Given the description of an element on the screen output the (x, y) to click on. 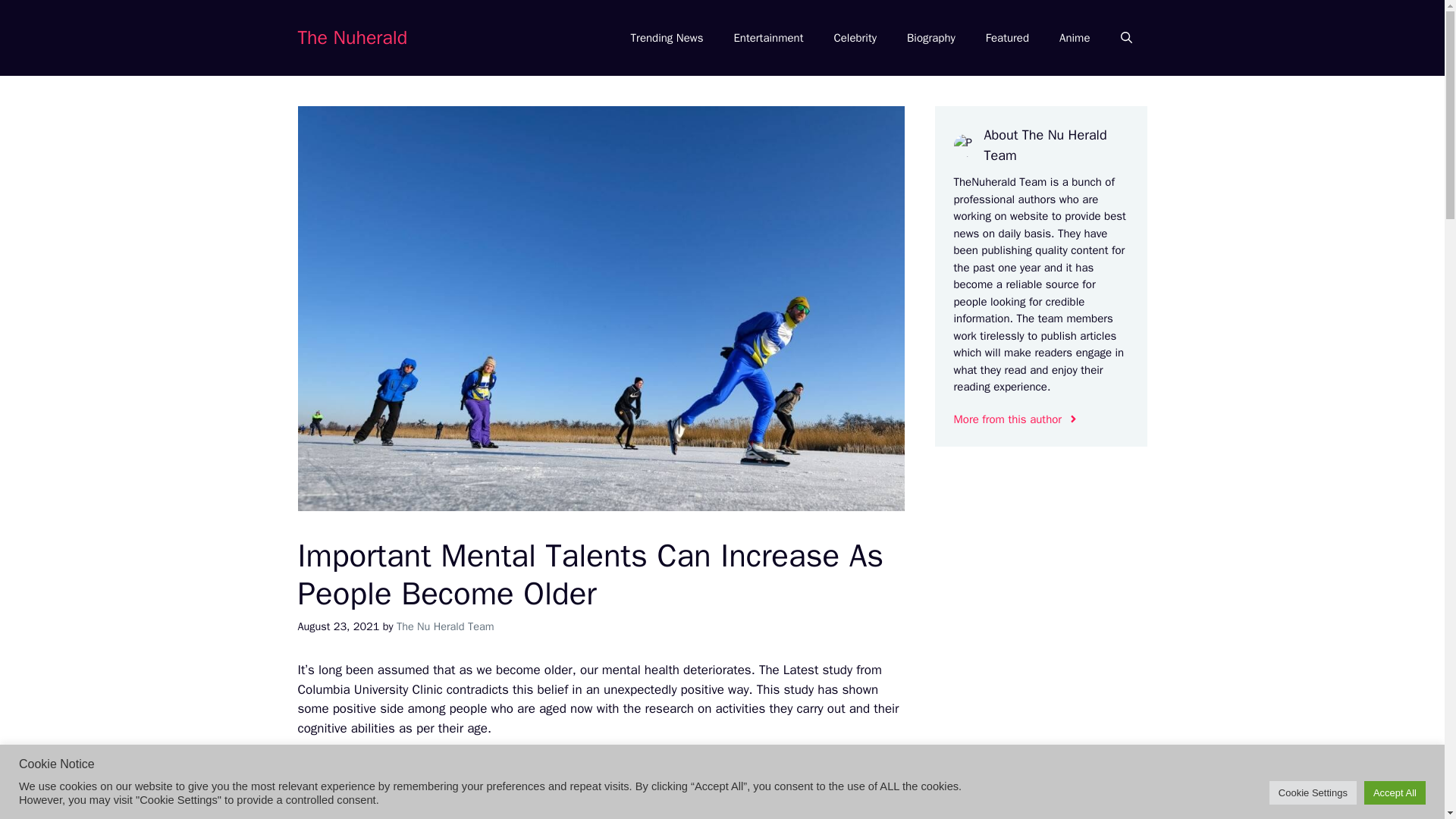
Anime (1074, 37)
Accept All (1394, 792)
Cookie Settings (1312, 792)
Featured (1007, 37)
Trending News (667, 37)
The Nu Herald Team (445, 626)
View all posts by The Nu Herald Team (445, 626)
Biography (931, 37)
The Nuherald (352, 37)
Celebrity (854, 37)
